Given the description of an element on the screen output the (x, y) to click on. 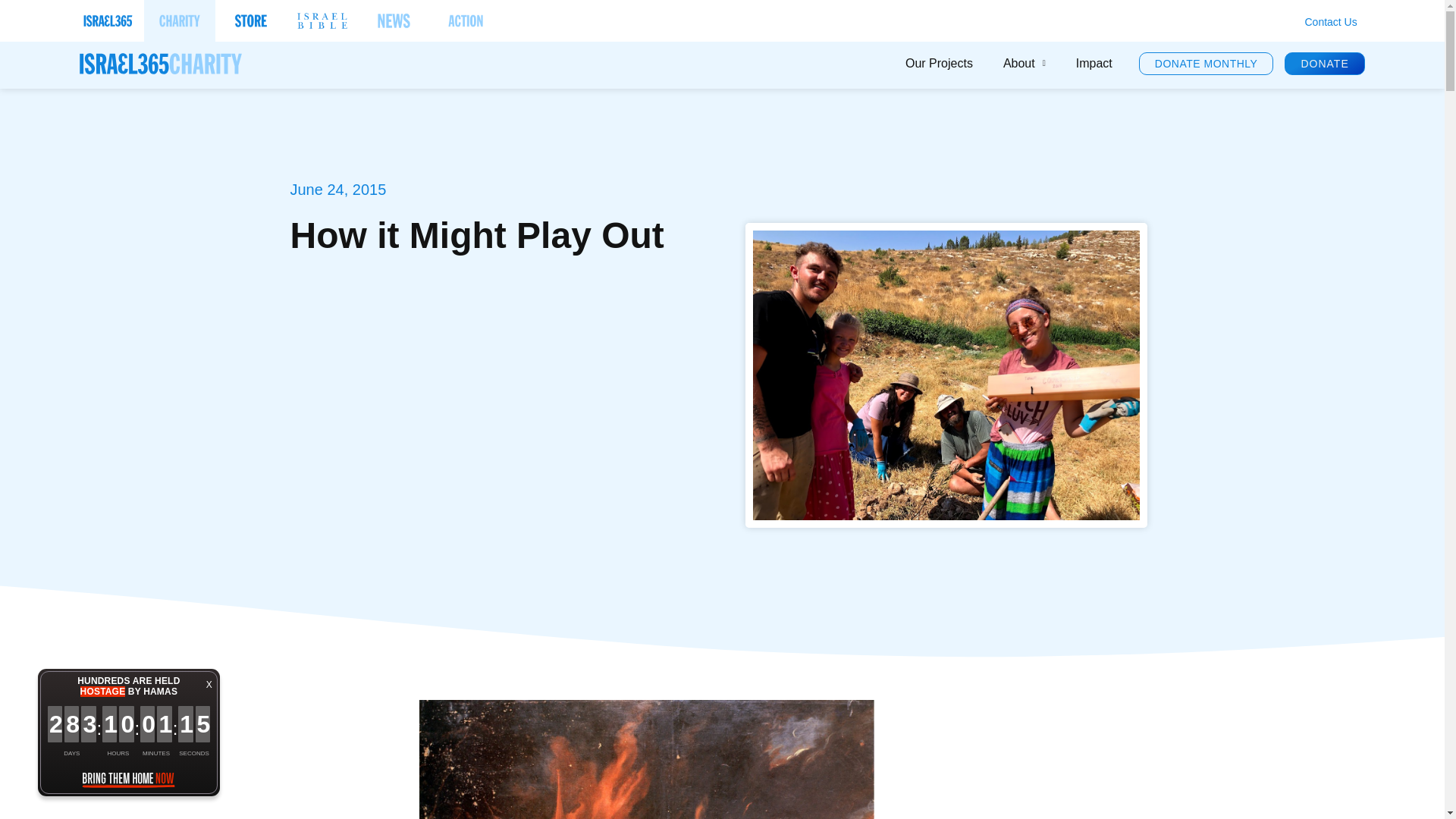
DONATE MONTHLY (1206, 63)
Contact Us (1330, 22)
Our Projects (938, 63)
Impact (1093, 63)
About (1024, 63)
June 24, 2015 (337, 189)
DONATE (1324, 63)
